Given the description of an element on the screen output the (x, y) to click on. 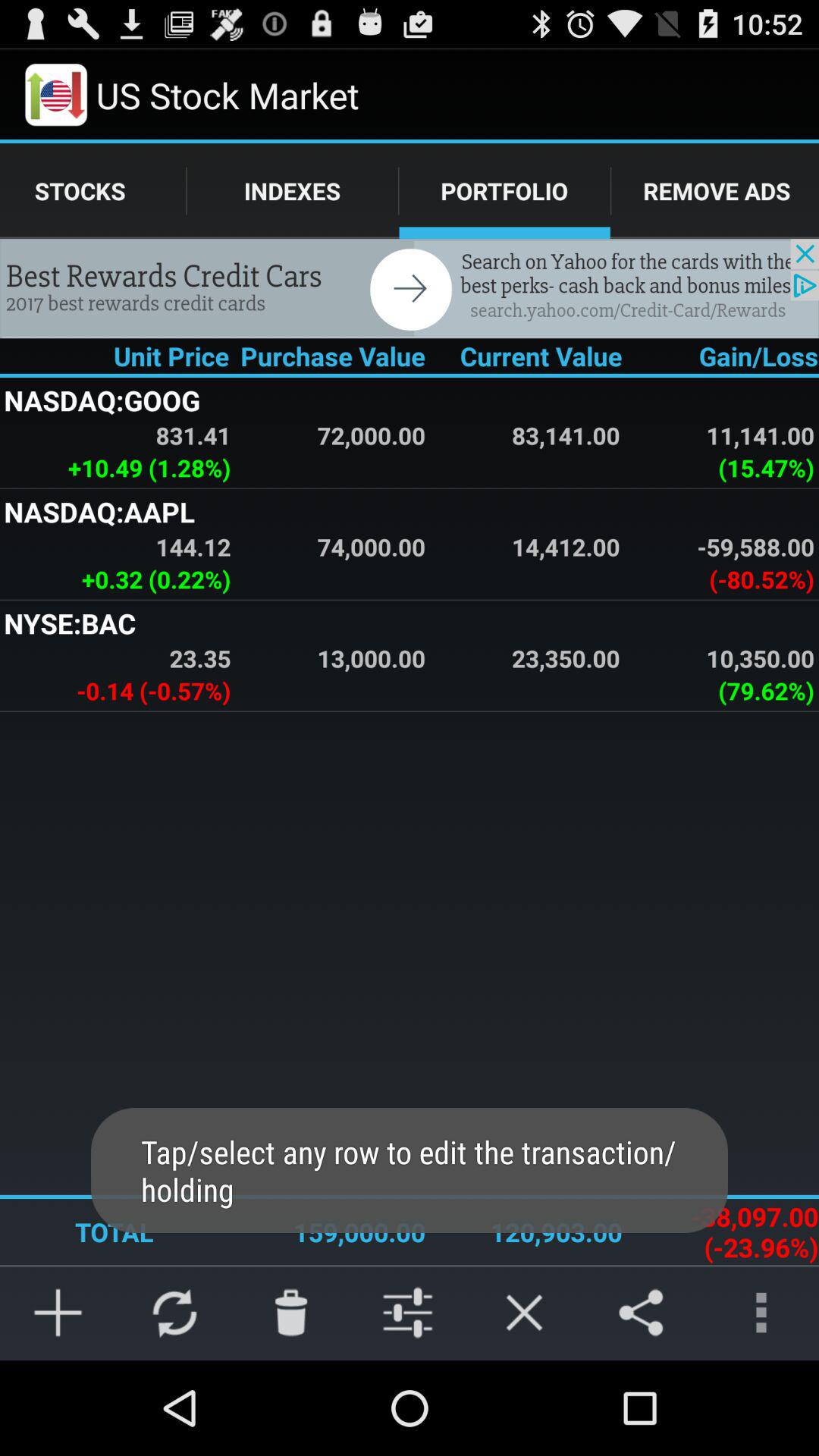
click on delete image in the last row (291, 1312)
click on the button which is left side of the delete button (175, 1312)
